Given the description of an element on the screen output the (x, y) to click on. 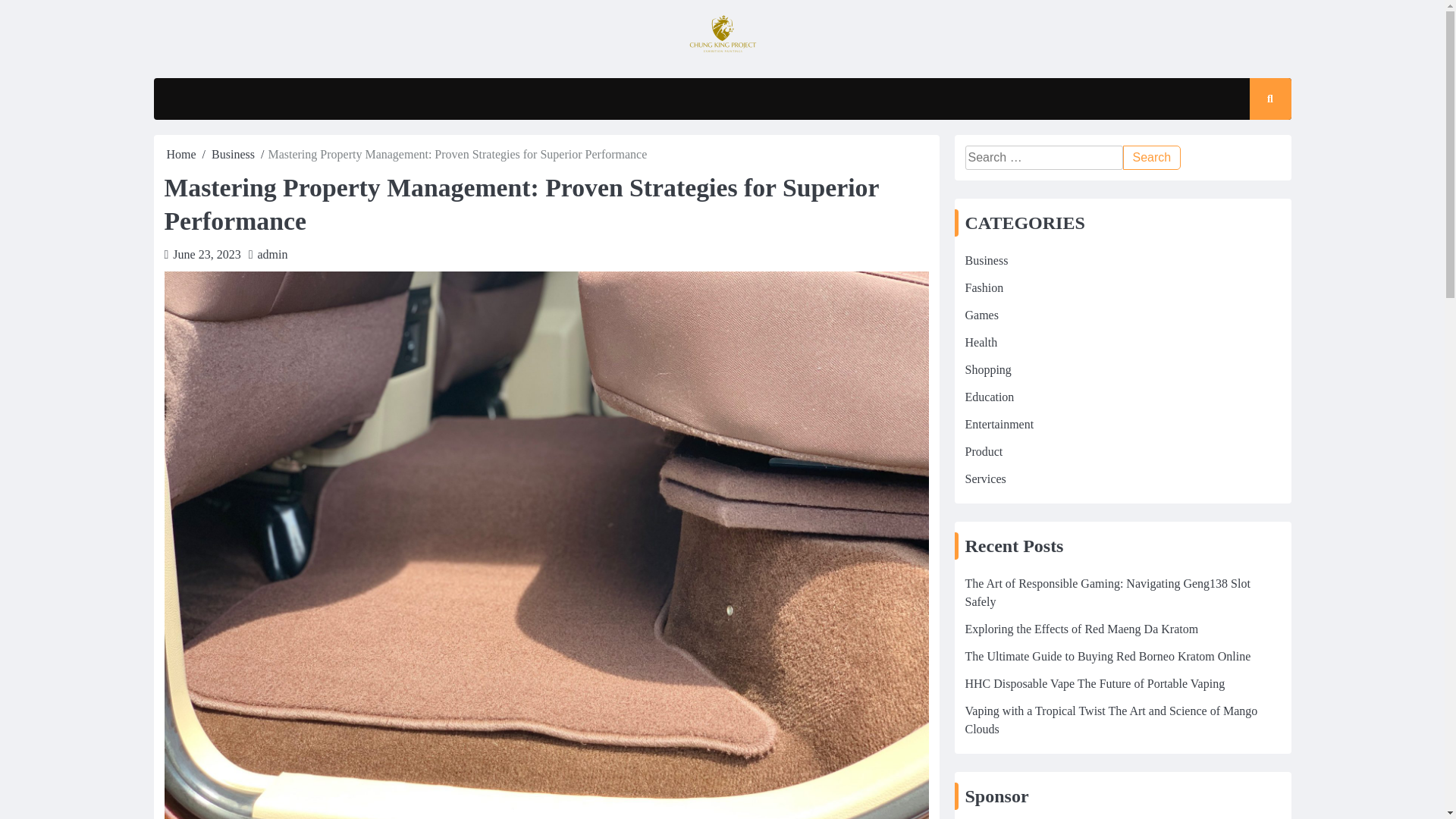
HHC Disposable Vape The Future of Portable Vaping (1093, 683)
Business (232, 154)
admin (272, 254)
Search (1151, 157)
Business (985, 259)
Fashion (983, 287)
Search (1151, 157)
Shopping (986, 369)
Exploring the Effects of Red Maeng Da Kratom (1080, 628)
Health (980, 341)
